Given the description of an element on the screen output the (x, y) to click on. 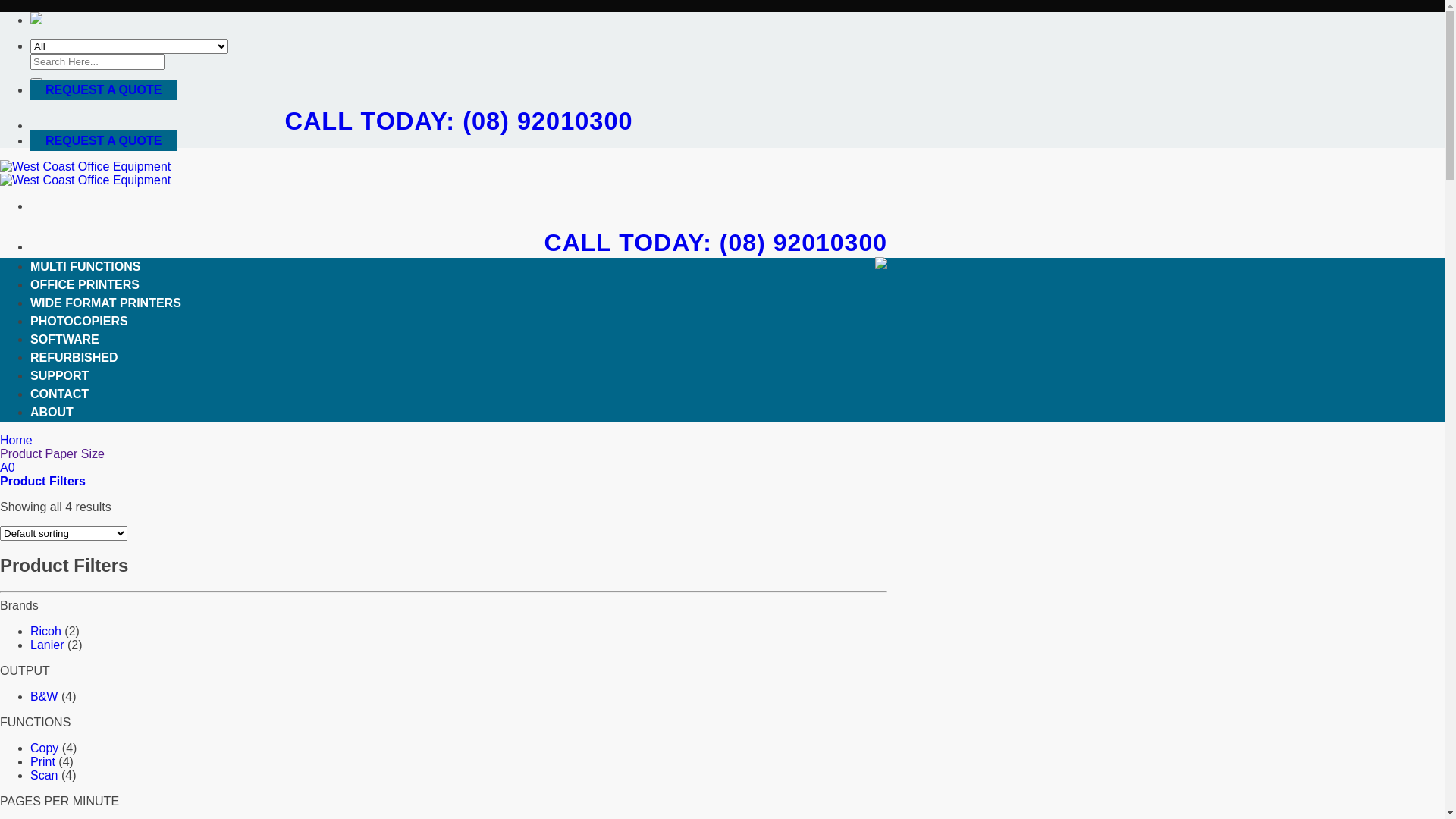
Lanier Element type: text (46, 644)
Ricoh Element type: text (45, 630)
Copy Element type: text (44, 747)
Print Element type: text (42, 761)
Search Element type: text (36, 80)
Product Paper Size Element type: text (52, 453)
Home  Element type: text (17, 439)
REFURBISHED Element type: text (74, 356)
CALL TODAY: (08) 92010300 Element type: text (715, 242)
A0 Element type: text (7, 467)
OFFICE PRINTERS Element type: text (84, 283)
REQUEST A QUOTE Element type: text (103, 140)
Product Filters Element type: text (42, 480)
REQUEST A QUOTE Element type: text (103, 89)
MULTI FUNCTIONS Element type: text (85, 265)
ABOUT Element type: text (51, 410)
PHOTOCOPIERS Element type: text (79, 319)
CONTACT Element type: text (59, 392)
WIDE FORMAT PRINTERS Element type: text (105, 301)
SOFTWARE Element type: text (64, 338)
West Coast Office Equipment Element type: hover (85, 172)
CALL TODAY: (08) 92010300 Element type: text (458, 120)
B&W Element type: text (43, 696)
SUPPORT Element type: text (59, 374)
Scan Element type: text (43, 774)
